Given the description of an element on the screen output the (x, y) to click on. 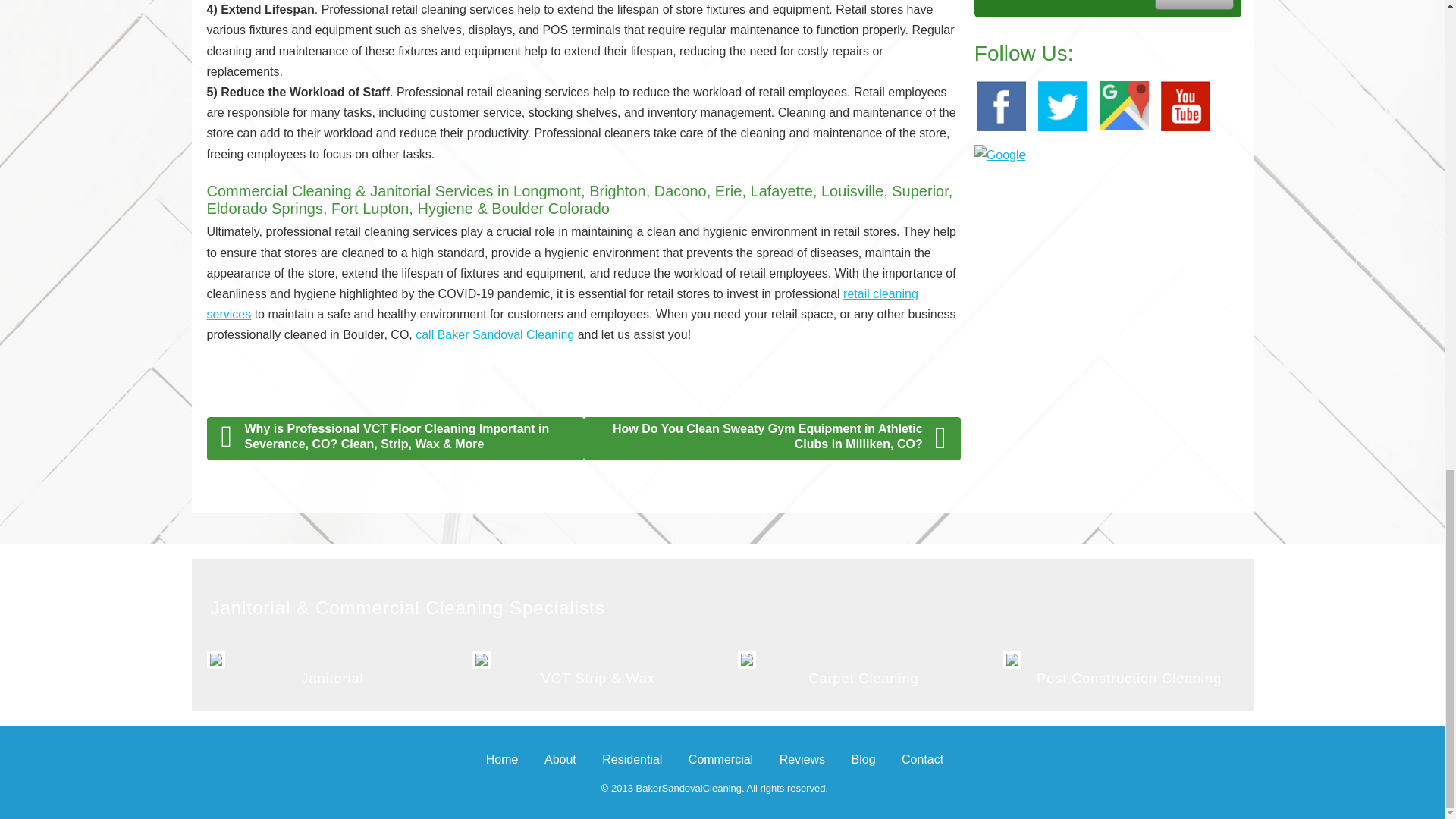
Send (1193, 5)
call Baker Sandoval Cleaning (493, 334)
Send (1193, 5)
retail cleaning services (561, 304)
